Given the description of an element on the screen output the (x, y) to click on. 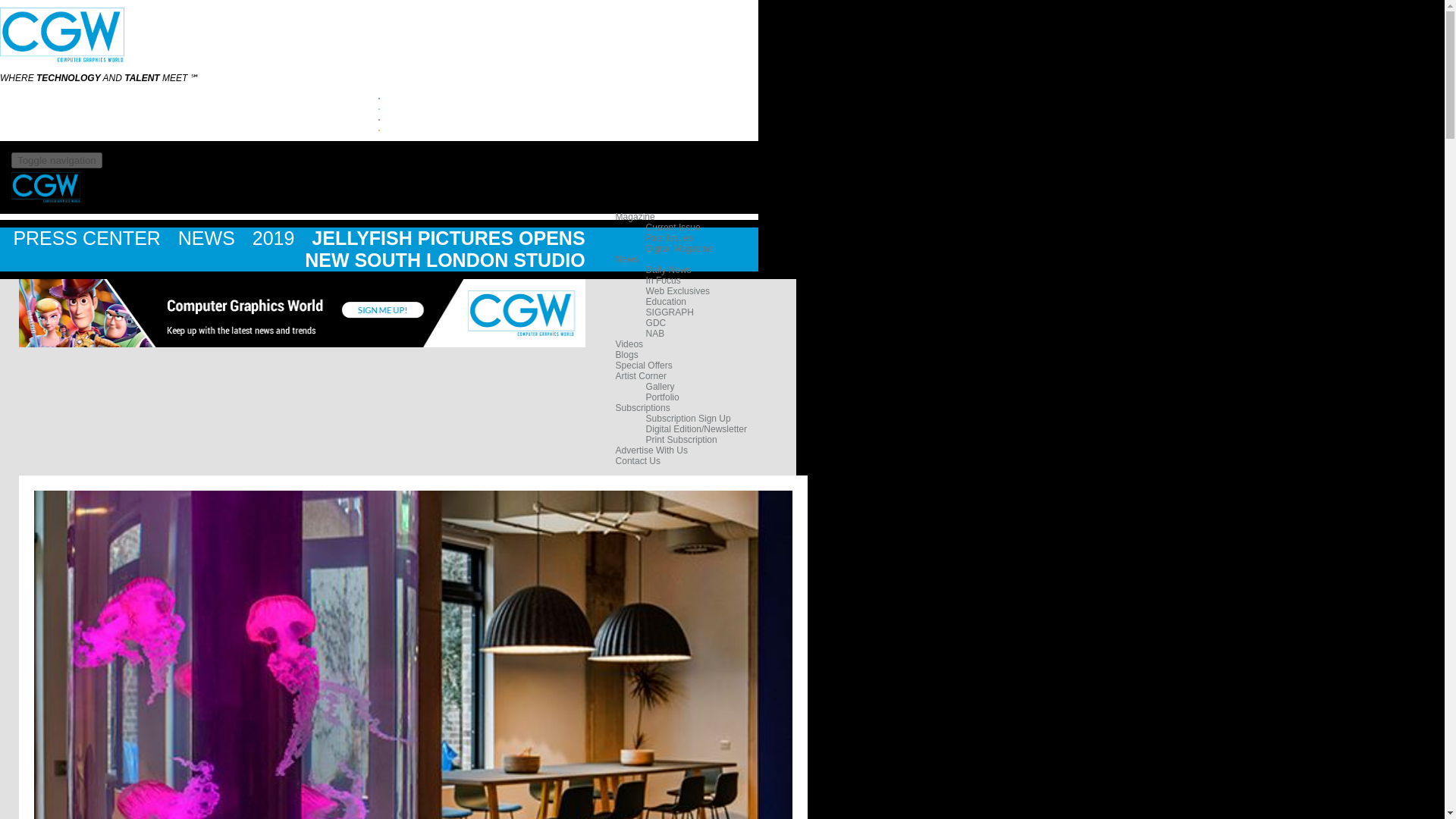
Gallery (660, 386)
NAB (655, 333)
News (627, 258)
Magazine (635, 216)
Subscriptions (642, 407)
Daily News (668, 269)
Web Exclusives (678, 290)
Past Issues (669, 237)
Artist Corner (640, 376)
SIGGRAPH (670, 312)
Special Offers (643, 365)
PRESS CENTER (89, 237)
In Focus (663, 280)
Print Subscription (681, 439)
Digital Magazine (679, 248)
